Given the description of an element on the screen output the (x, y) to click on. 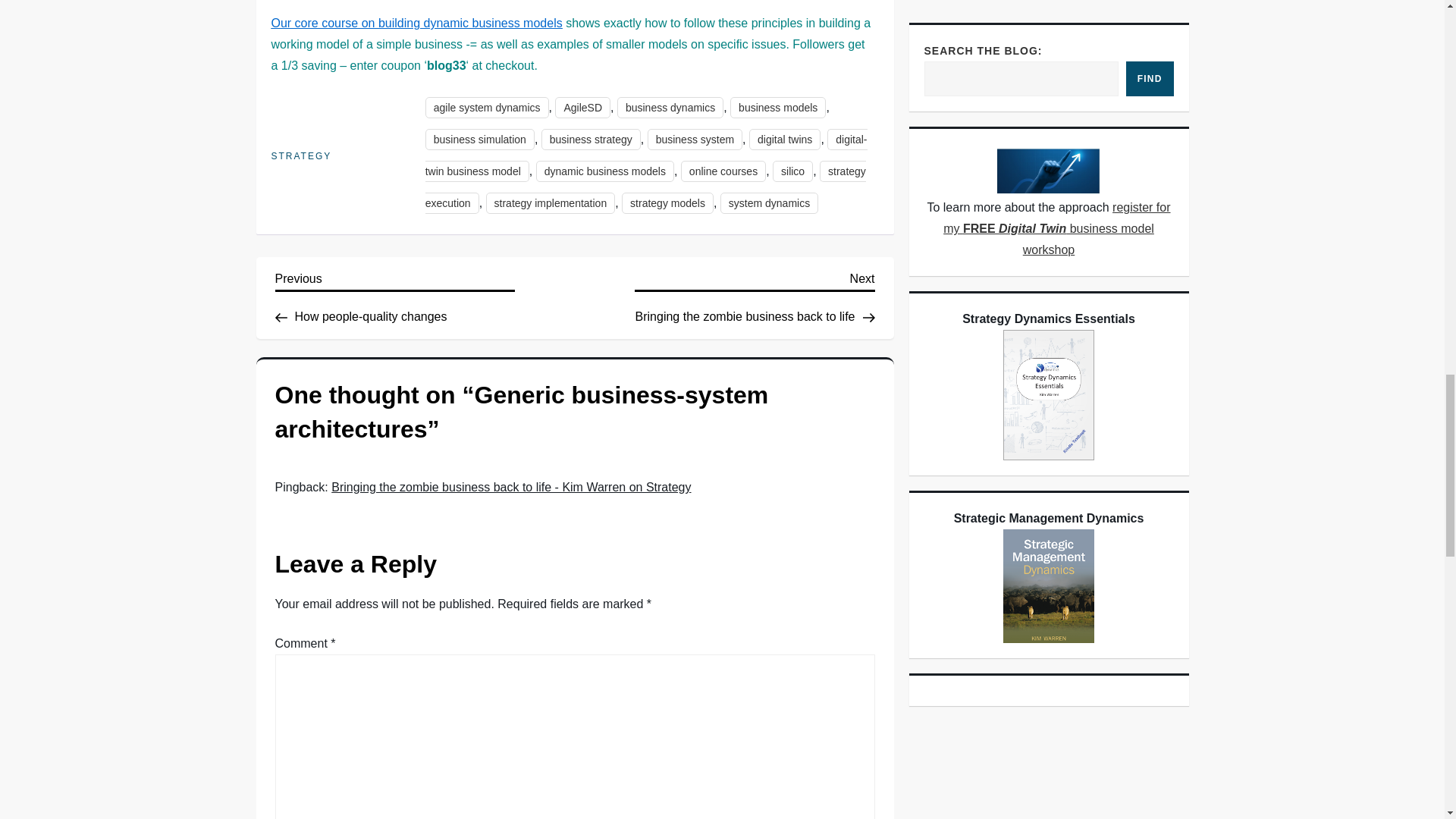
Our core course on building dynamic business models (416, 22)
agile system dynamics (486, 107)
AgileSD (582, 107)
STRATEGY (300, 156)
dynamic business models (754, 295)
digital twins (604, 170)
silico (785, 138)
system dynamics (792, 170)
digital-twin business model (769, 202)
business dynamics (646, 154)
business system (670, 107)
online courses (694, 138)
strategy implementation (723, 170)
